Given the description of an element on the screen output the (x, y) to click on. 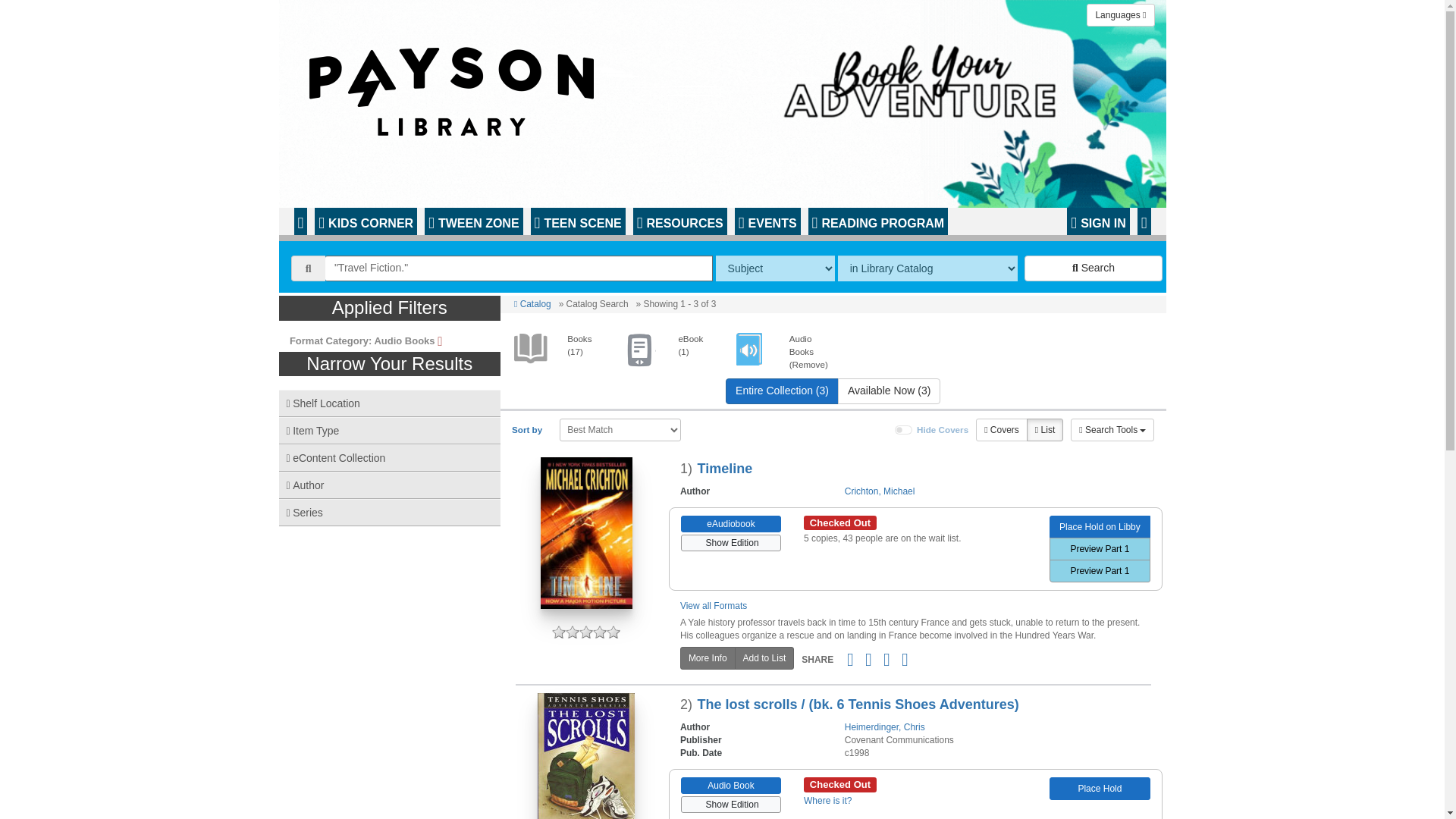
on (903, 429)
KIDS CORNER (365, 221)
RESOURCES (679, 221)
SIGN IN (1098, 221)
Search Tools (1112, 429)
 Search (1093, 268)
TEEN SCENE (578, 221)
Languages  (1120, 15)
Catalog (532, 303)
EVENTS (767, 221)
READING PROGRAM (878, 221)
Login (1098, 221)
"Travel Fiction." (518, 268)
TWEEN ZONE (473, 221)
